Given the description of an element on the screen output the (x, y) to click on. 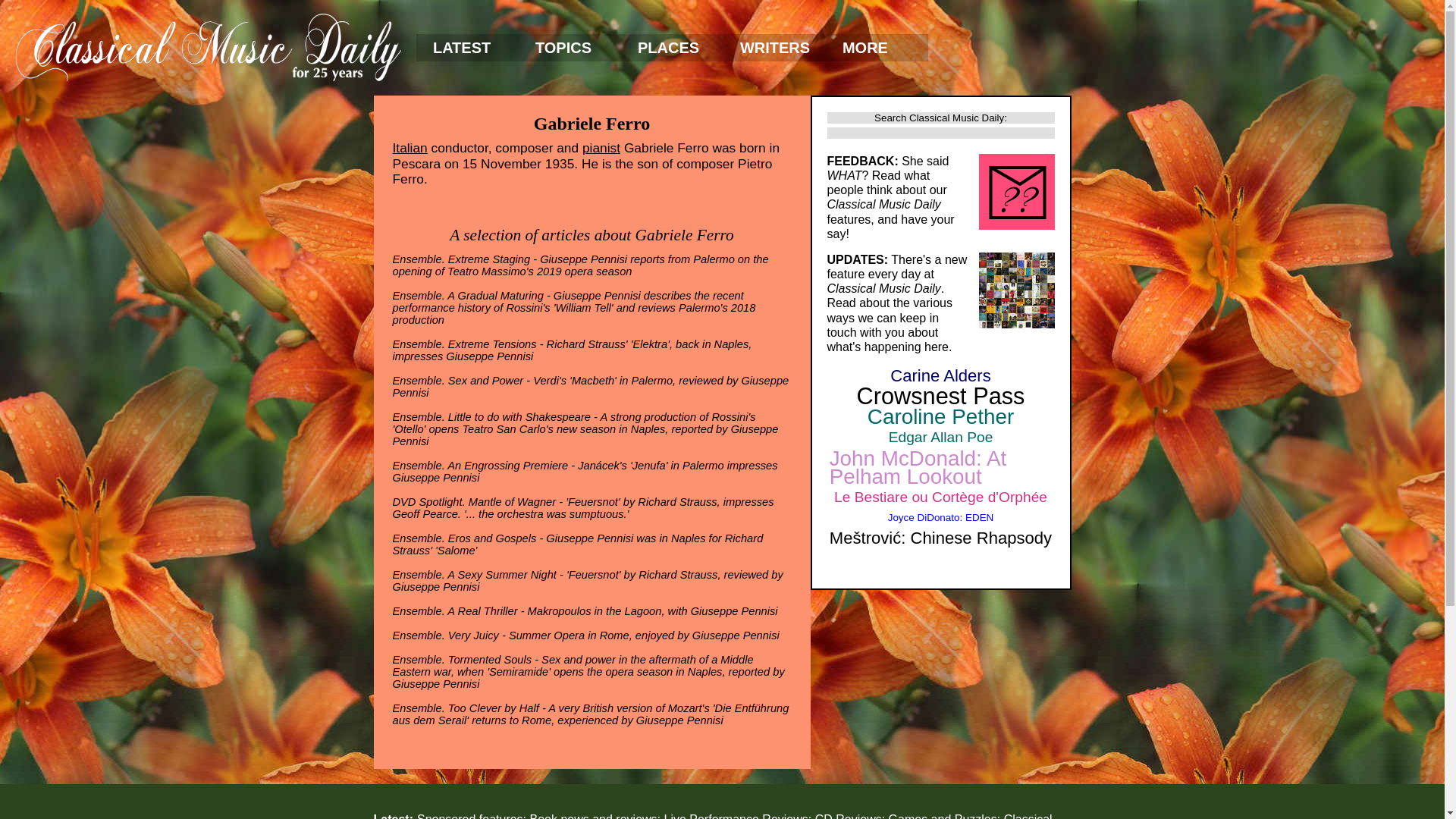
Classical Music Daily (207, 47)
PLACES (672, 47)
TOPICS (569, 47)
Search Classical Music Daily: (940, 117)
LATEST (467, 47)
